Given the description of an element on the screen output the (x, y) to click on. 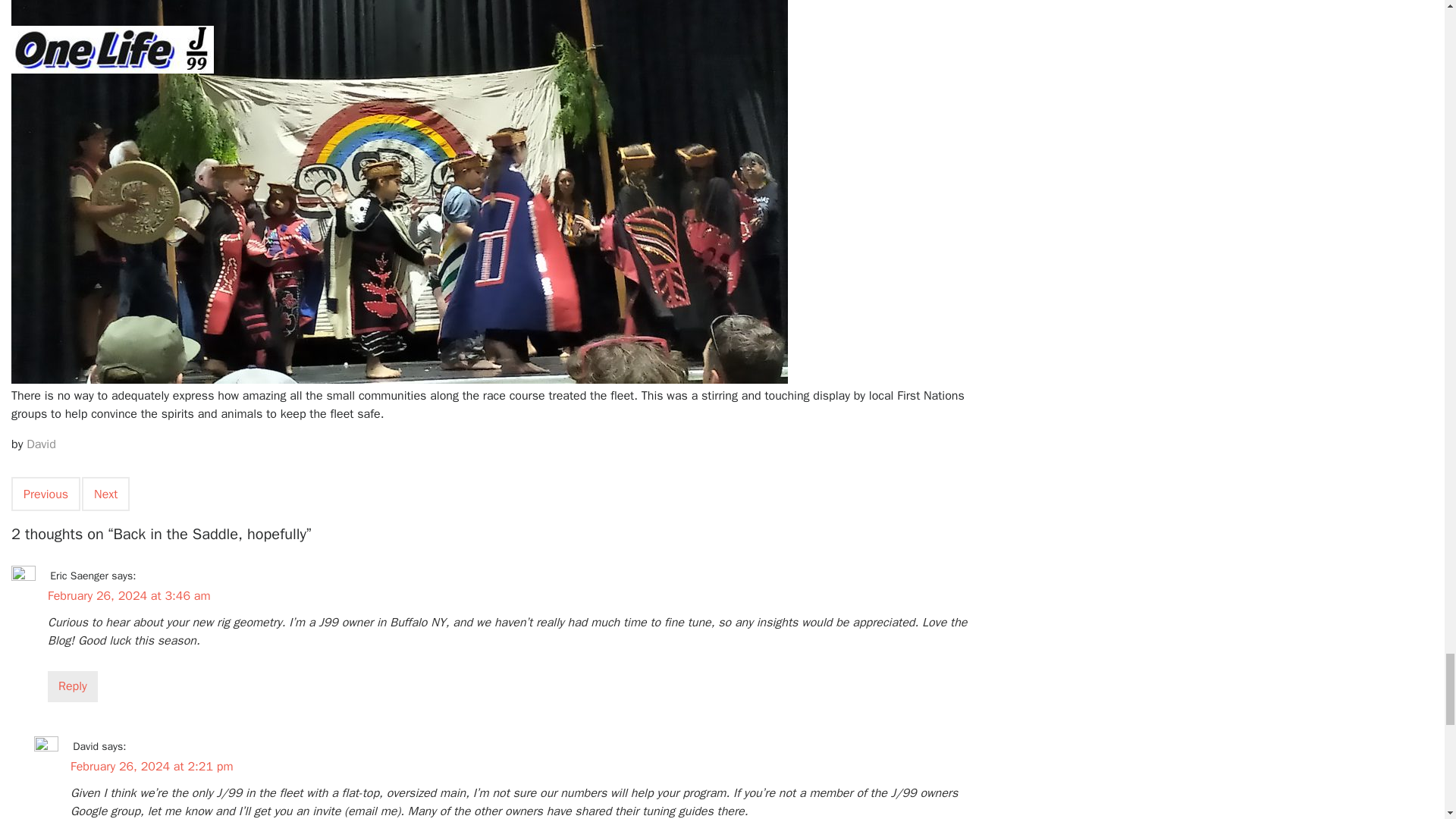
Next (105, 494)
Previous (45, 494)
David (41, 444)
Reply (72, 685)
February 26, 2024 at 2:21 pm (150, 766)
February 26, 2024 at 3:46 am (129, 595)
